Given the description of an element on the screen output the (x, y) to click on. 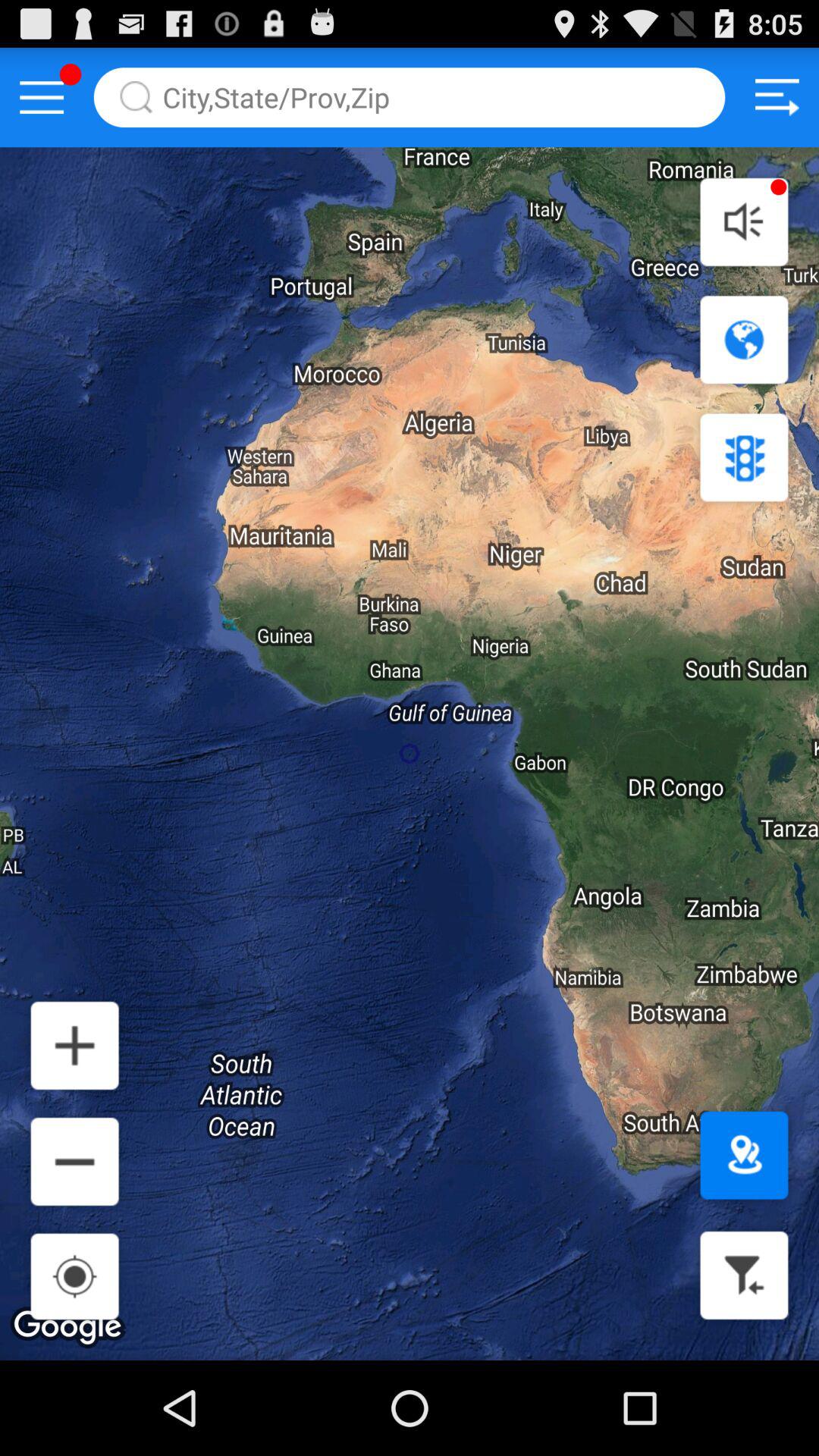
setting button (777, 97)
